Given the description of an element on the screen output the (x, y) to click on. 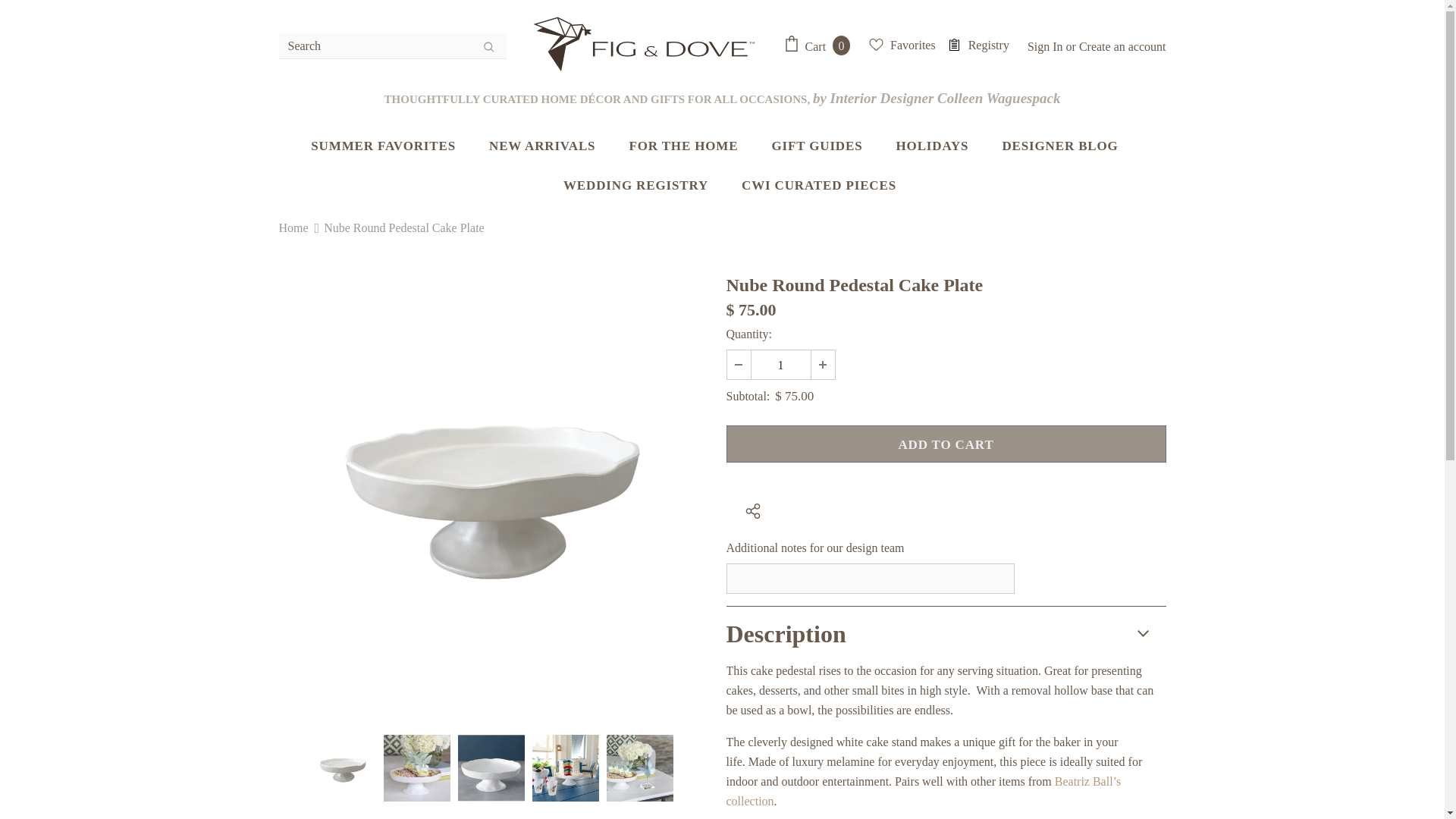
1 (780, 364)
Cart 0 (821, 45)
Add to cart (946, 443)
